Given the description of an element on the screen output the (x, y) to click on. 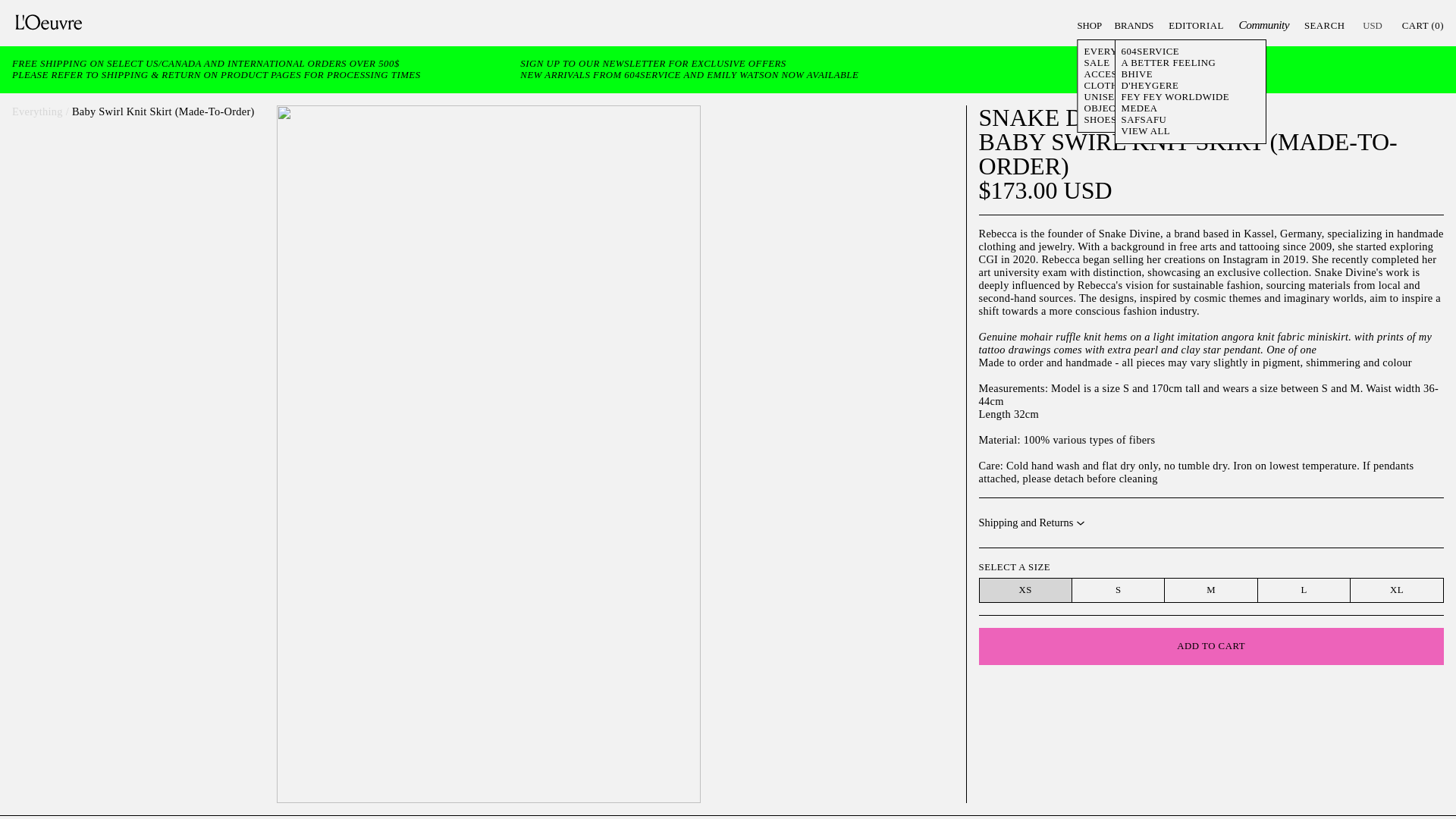
SALE (1096, 62)
BHIVE (1137, 73)
VIEW ALL (1145, 131)
A BETTER FEELING (1168, 62)
D'HEYGERE (1149, 85)
MEDEA (1139, 108)
FEY FEY WORLDWIDE (1174, 96)
Community (1263, 24)
SHOES (1099, 120)
ACCESSORIES (1118, 74)
UNISEX (1102, 97)
EVERYTHING (1116, 51)
OBJECTS (1104, 108)
604SERVICE (1150, 50)
BRANDS (1134, 25)
